Given the description of an element on the screen output the (x, y) to click on. 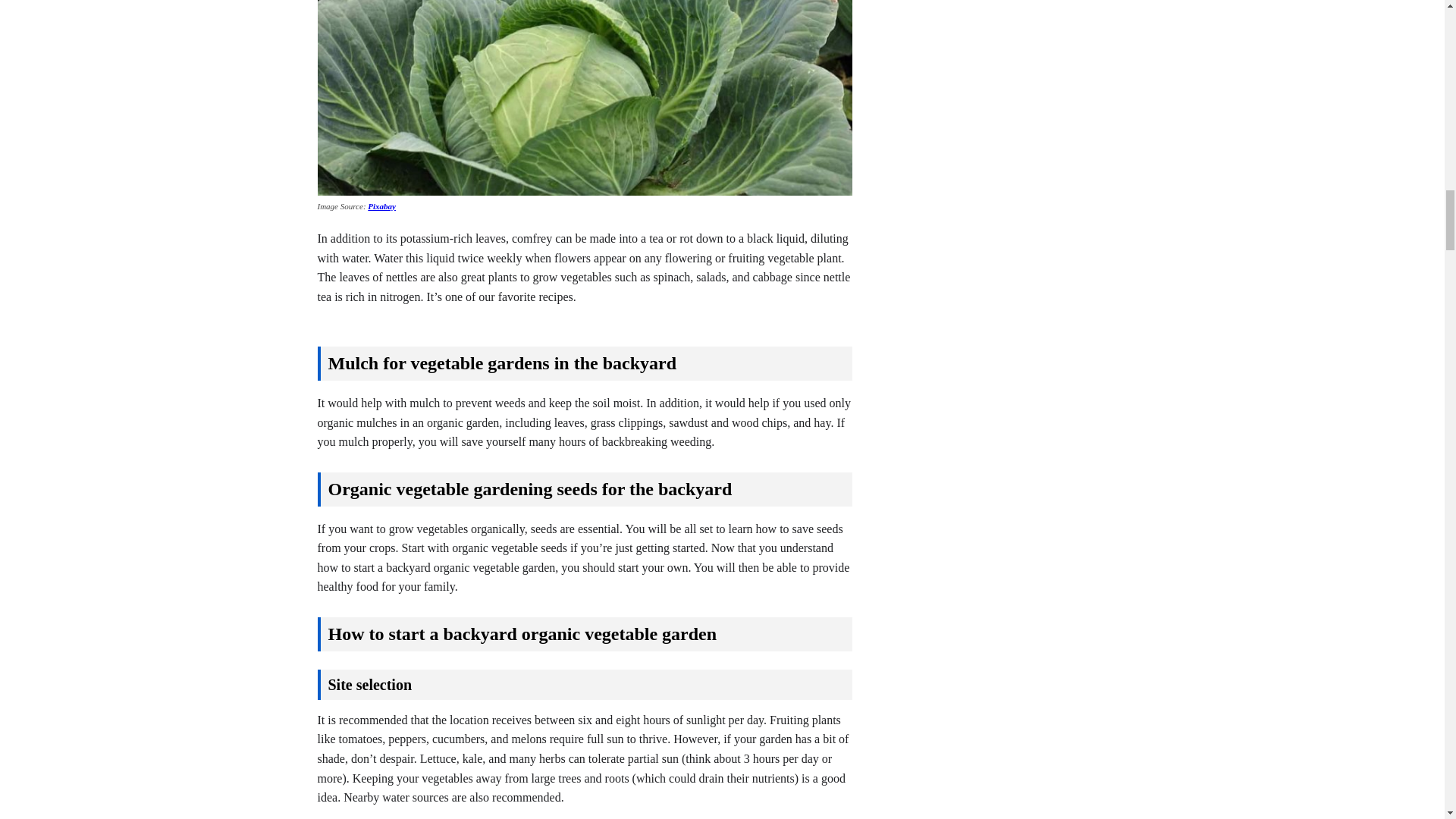
Organic Backyard Vegetable Gardening 8 (584, 97)
